Given the description of an element on the screen output the (x, y) to click on. 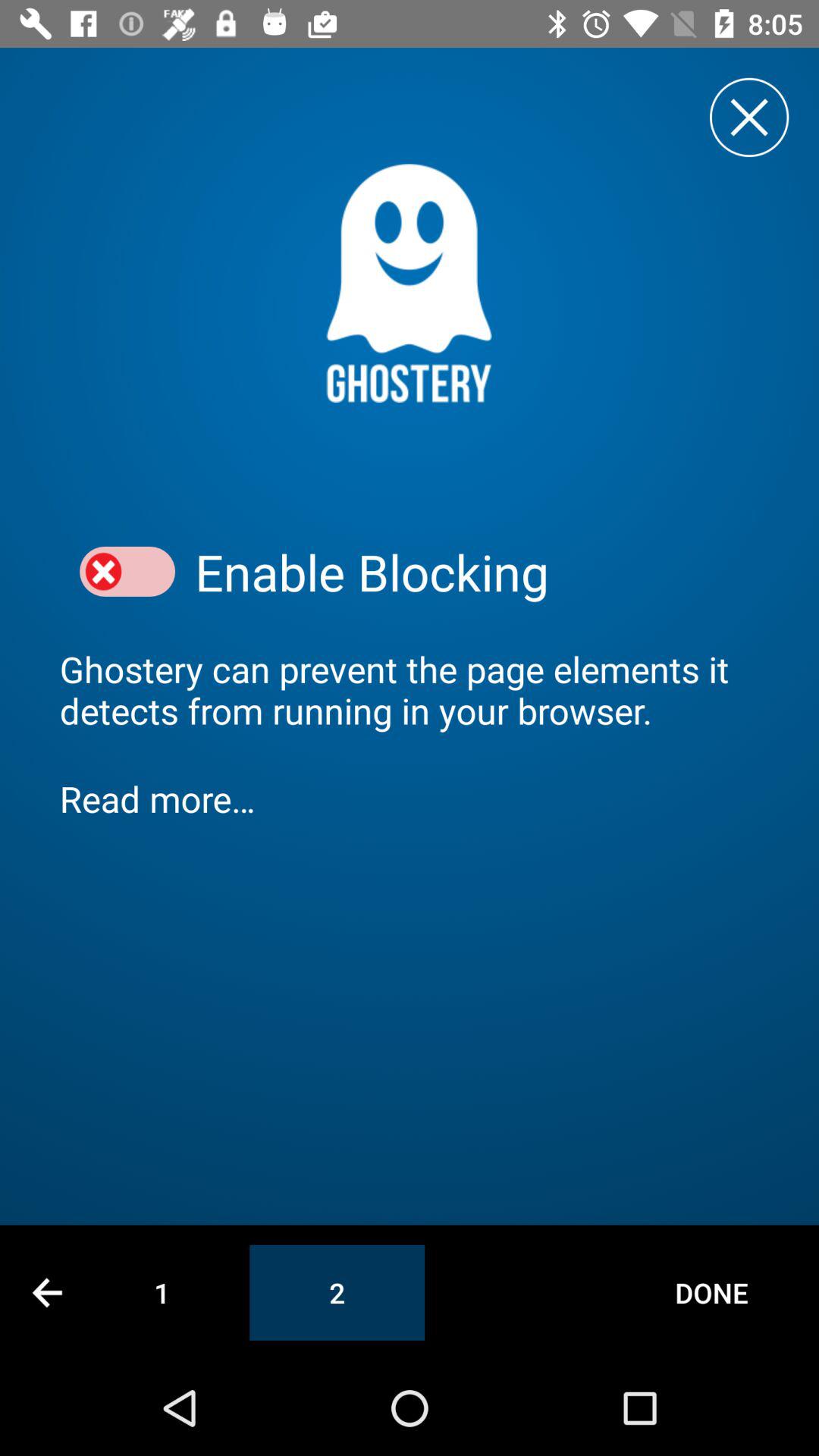
turn on the enable blocking item (477, 571)
